Given the description of an element on the screen output the (x, y) to click on. 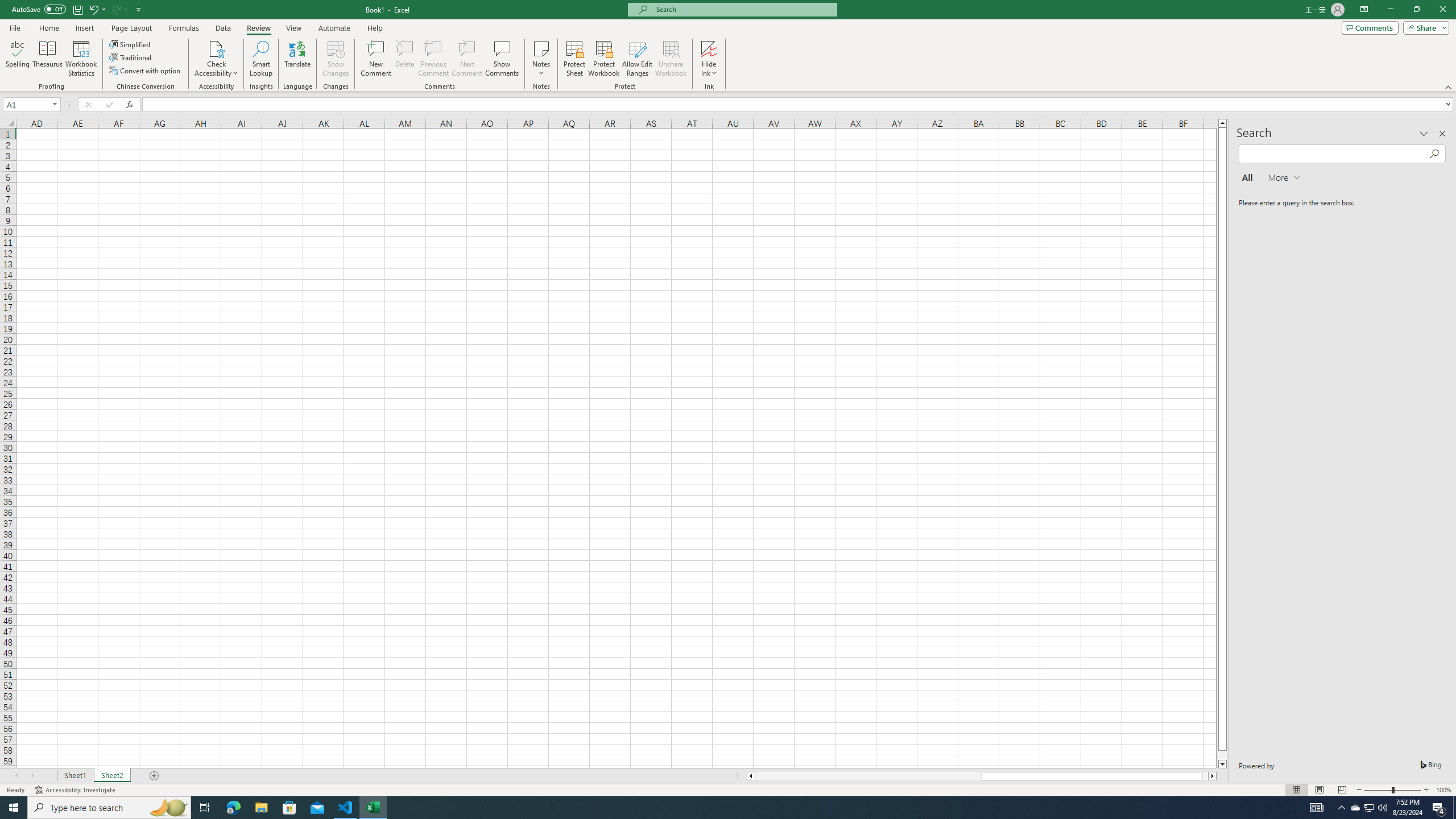
Sheet2 (112, 775)
Spelling... (17, 58)
Notes (541, 58)
